Given the description of an element on the screen output the (x, y) to click on. 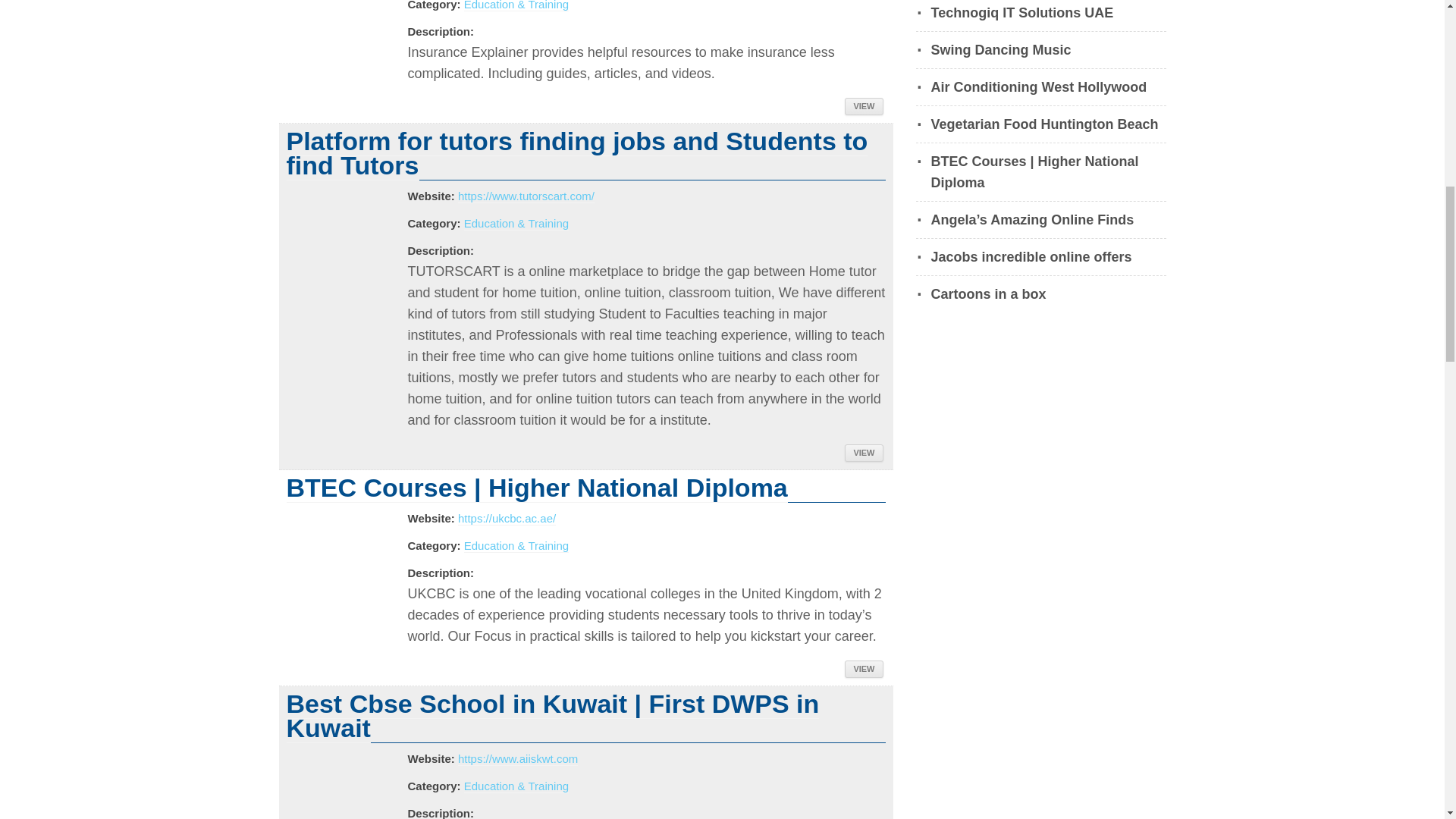
VIEW (863, 669)
VIEW (863, 106)
VIEW (863, 452)
Platform for tutors finding jobs and Students to find Tutors (576, 153)
